Given the description of an element on the screen output the (x, y) to click on. 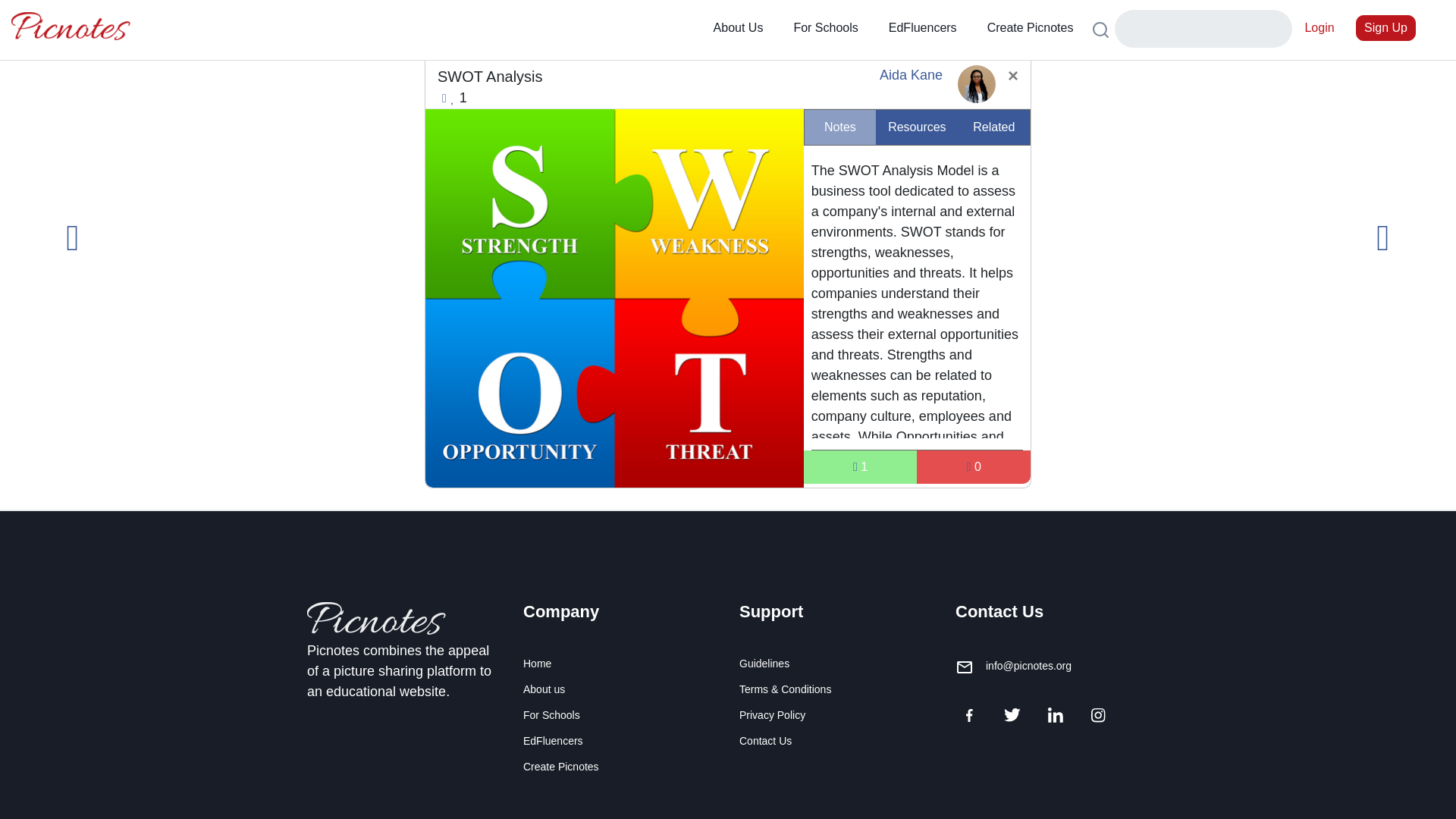
Resources (917, 126)
Notes (840, 126)
Aida Kane (910, 74)
Related (993, 126)
